Given the description of an element on the screen output the (x, y) to click on. 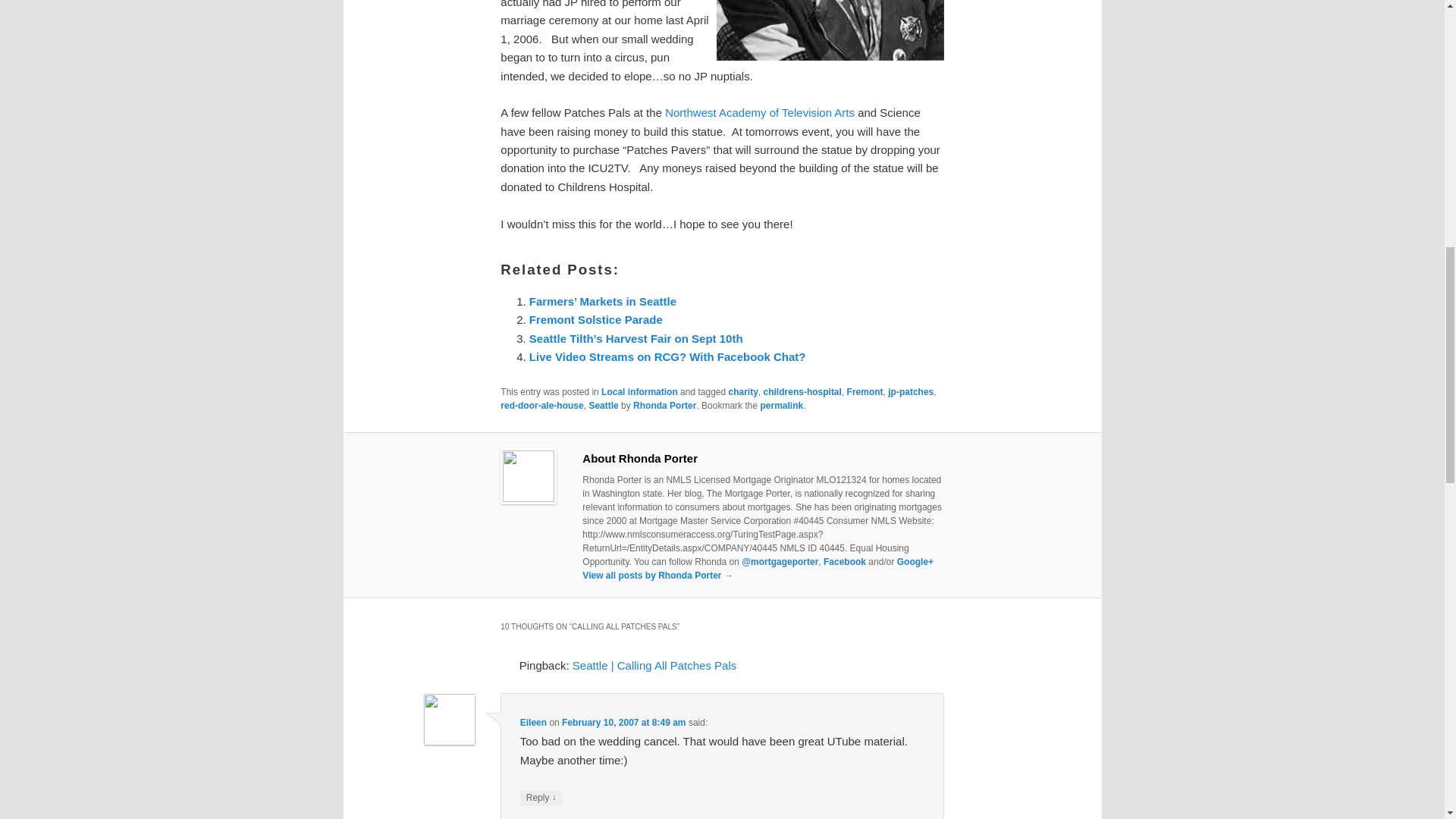
Fremont Solstice Parade (595, 318)
Live Video Streams on RCG? With Facebook Chat? (667, 356)
Permalink to Calling All Patches Pals (781, 405)
